Given the description of an element on the screen output the (x, y) to click on. 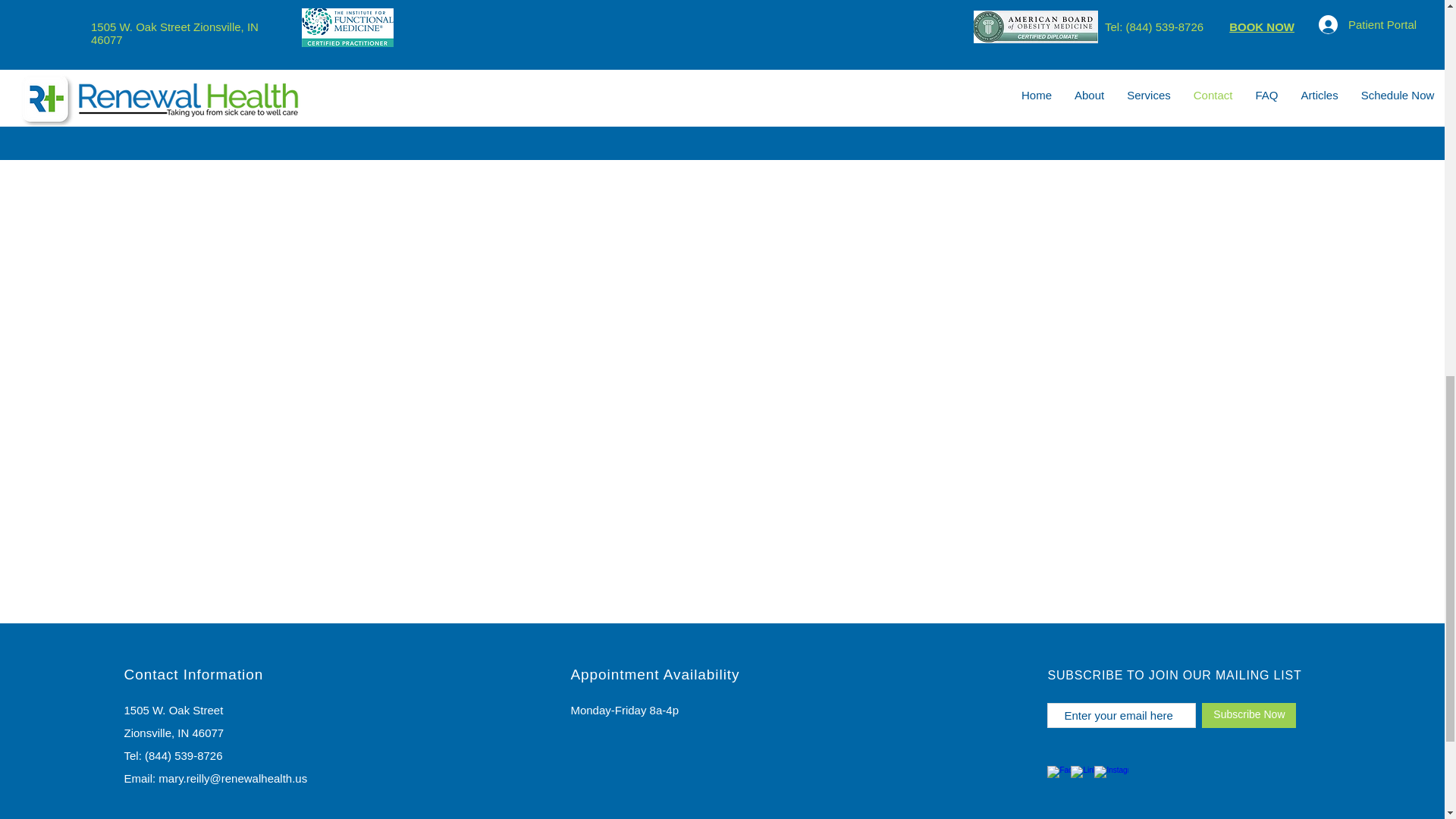
Subscribe Now (1248, 715)
